Given the description of an element on the screen output the (x, y) to click on. 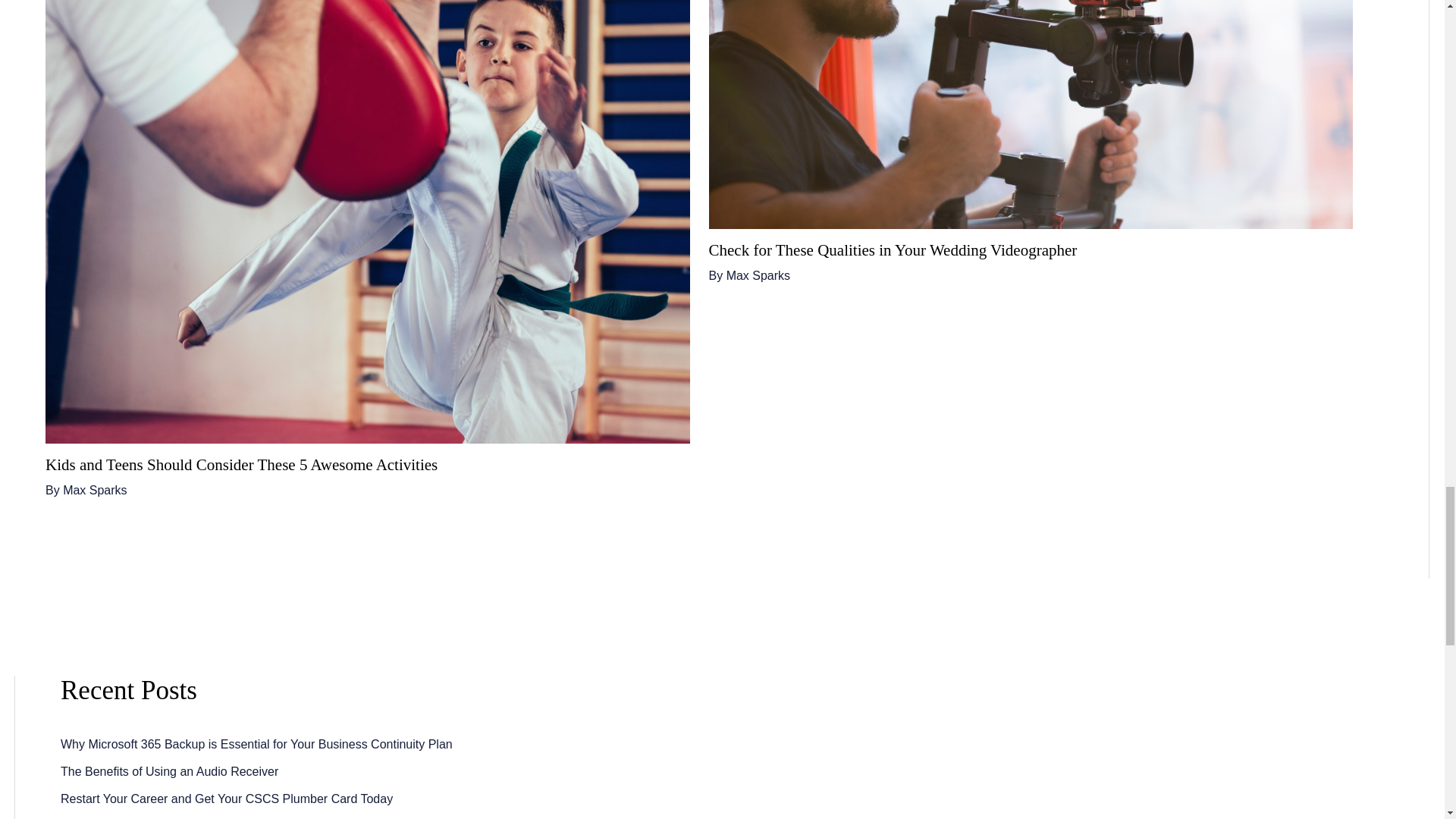
Max Sparks (94, 490)
Restart Your Career and Get Your CSCS Plumber Card Today (227, 798)
Check for These Qualities in Your Wedding Videographer (892, 249)
View all posts by Max Sparks (94, 490)
Max Sparks (758, 275)
The Benefits of Using an Audio Receiver (169, 771)
Kids and Teens Should Consider These 5 Awesome Activities (241, 464)
